Given the description of an element on the screen output the (x, y) to click on. 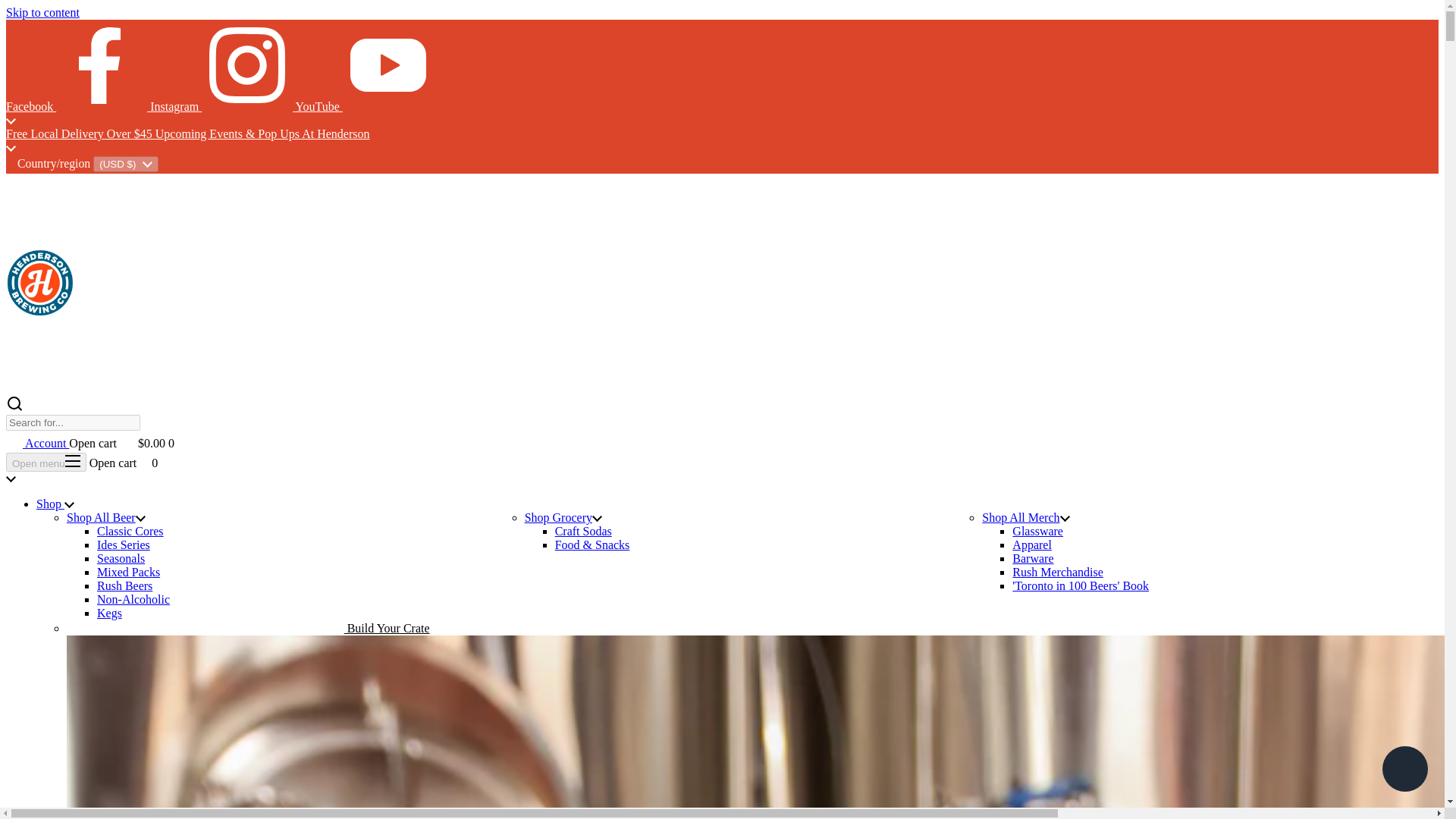
Classic Cores (130, 530)
Rush Merchandise (1057, 571)
Glassware (1036, 530)
Shop Grocery (563, 517)
Shopify online store chat (1404, 770)
Facebook (77, 106)
'Toronto in 100 Beers' Book (1079, 585)
Rush Beers (124, 585)
Seasonals (120, 558)
Shop All Merch (1024, 517)
